Given the description of an element on the screen output the (x, y) to click on. 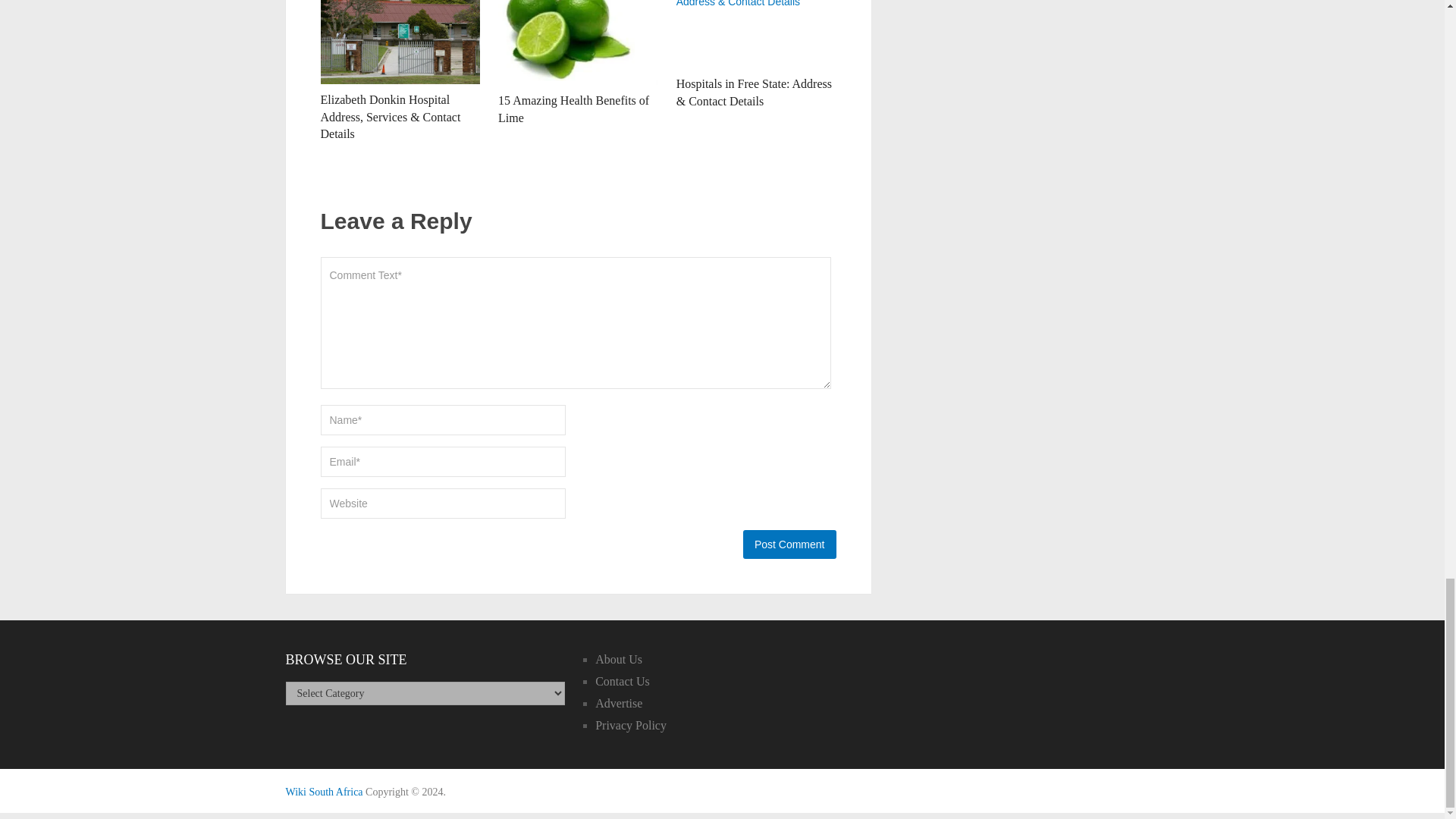
 Latest information and trends in South Africa (323, 791)
Post Comment (788, 543)
15 Amazing Health Benefits of Lime (577, 42)
15 Amazing Health Benefits of Lime (573, 108)
